Given the description of an element on the screen output the (x, y) to click on. 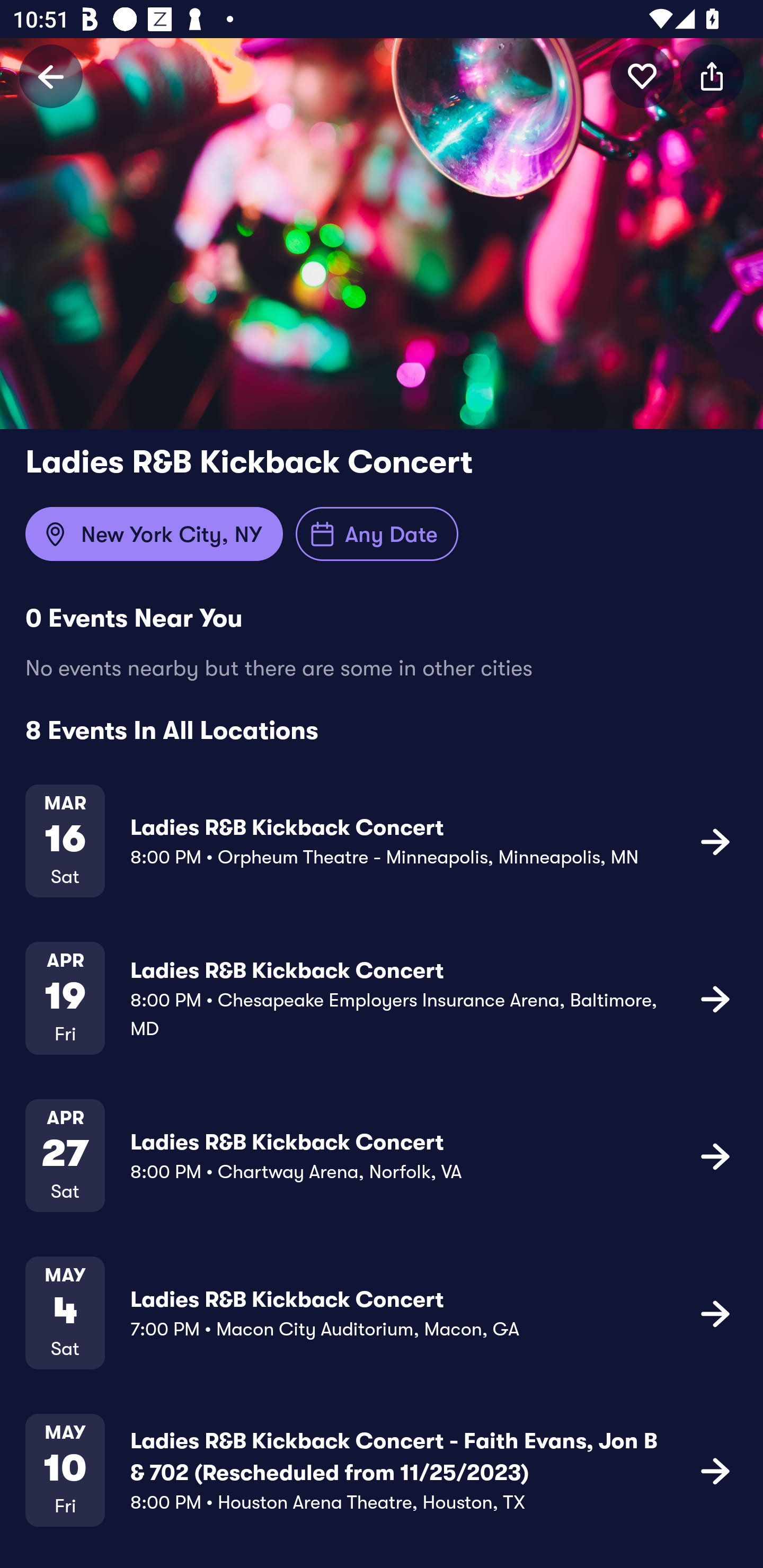
Back (50, 75)
icon button (641, 75)
icon button (711, 75)
New York City, NY (153, 533)
Any Date (377, 533)
icon button (714, 840)
icon button (714, 998)
icon button (714, 1155)
icon button (714, 1312)
icon button (714, 1470)
